Given the description of an element on the screen output the (x, y) to click on. 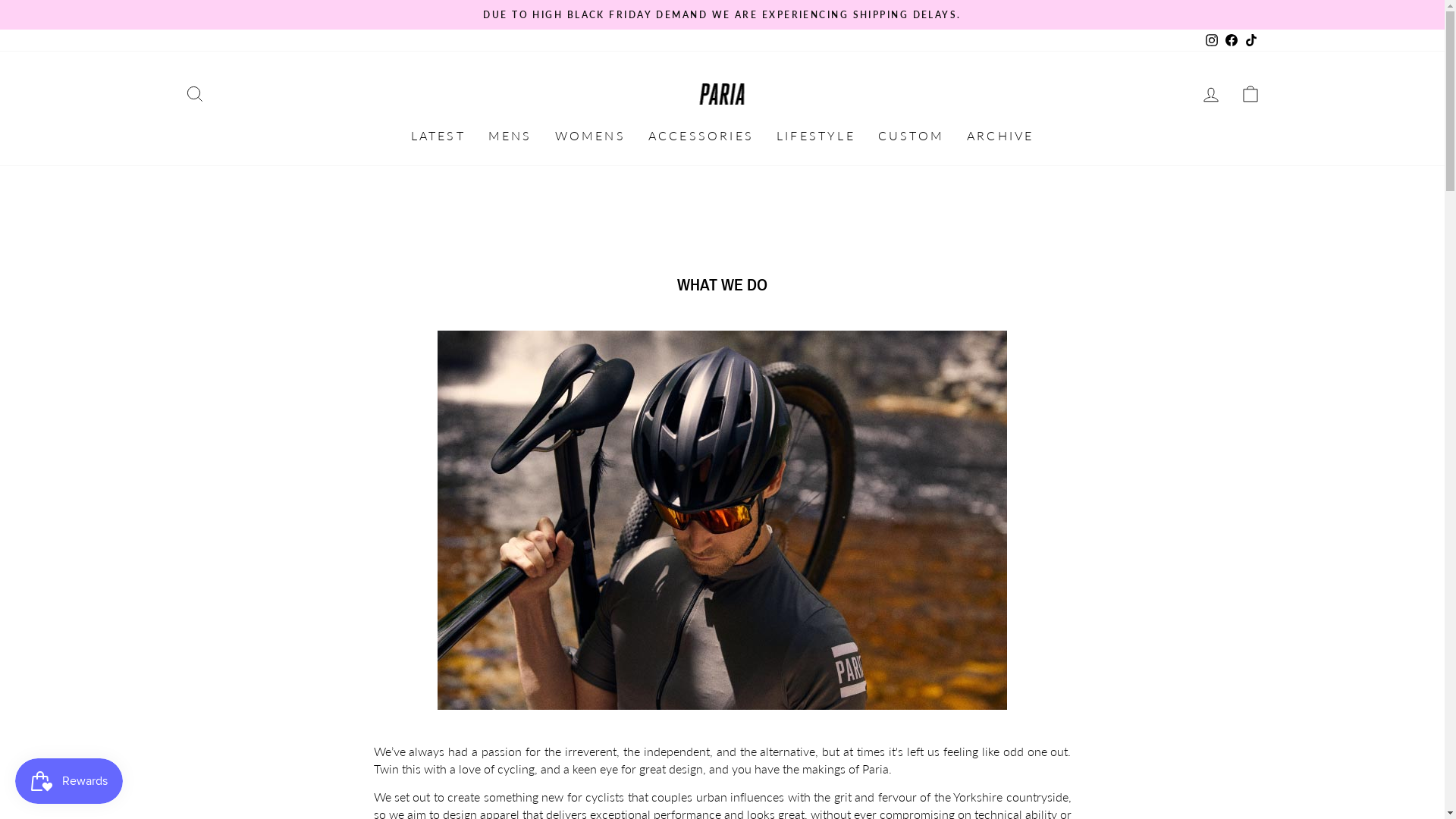
Facebook Element type: text (1230, 40)
MENS Element type: text (509, 135)
SEARCH Element type: text (193, 94)
CUSTOM Element type: text (910, 135)
BASKET Element type: text (1249, 94)
LOG IN Element type: text (1210, 94)
Smile.io Rewards Program Launcher Element type: hover (68, 780)
LIFESTYLE Element type: text (815, 135)
ARCHIVE Element type: text (999, 135)
ACCESSORIES Element type: text (701, 135)
TikTok Element type: text (1250, 40)
WOMENS Element type: text (590, 135)
Instagram Element type: text (1210, 40)
LATEST Element type: text (437, 135)
